Given the description of an element on the screen output the (x, y) to click on. 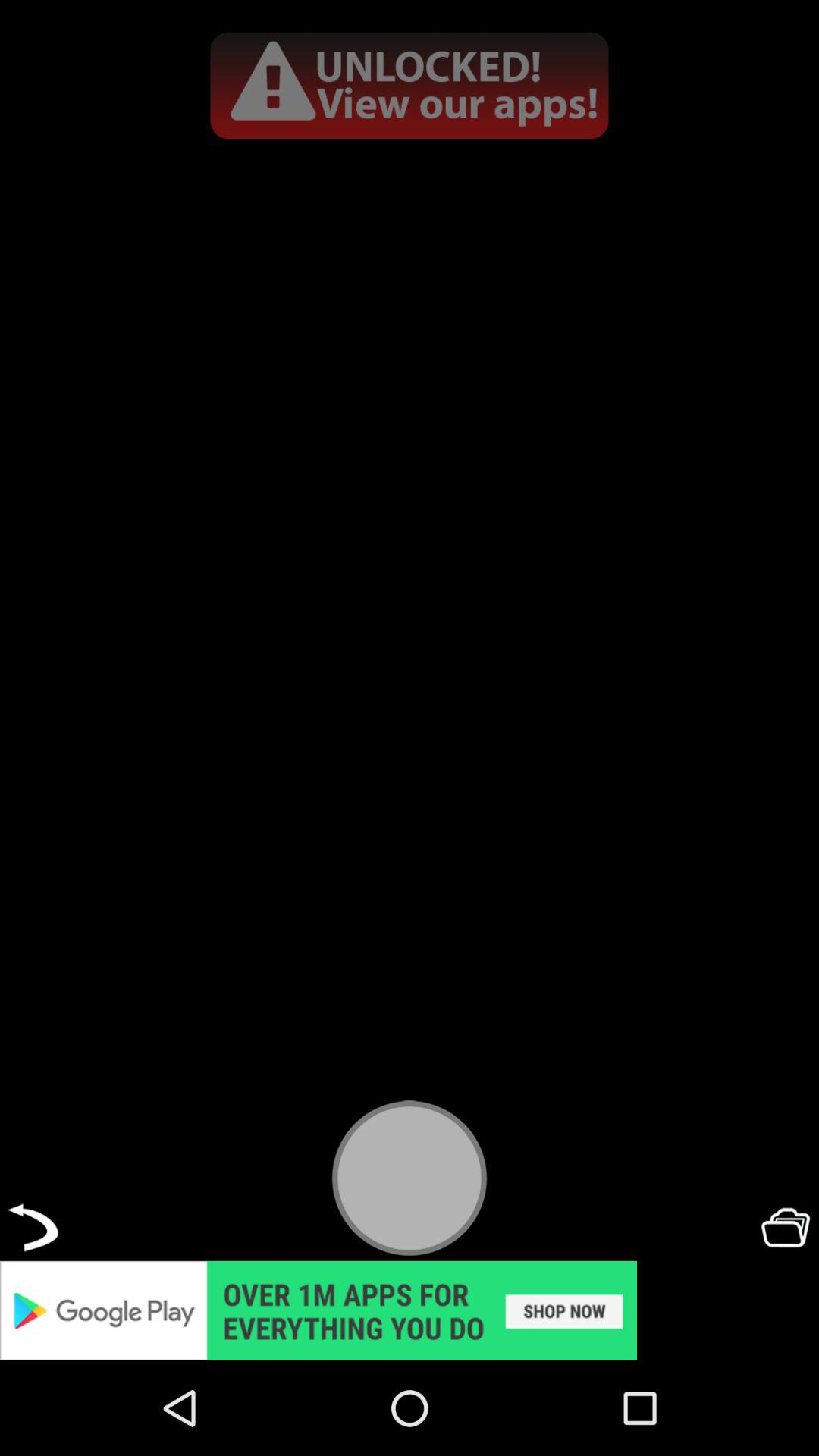
capture media (409, 1177)
